Given the description of an element on the screen output the (x, y) to click on. 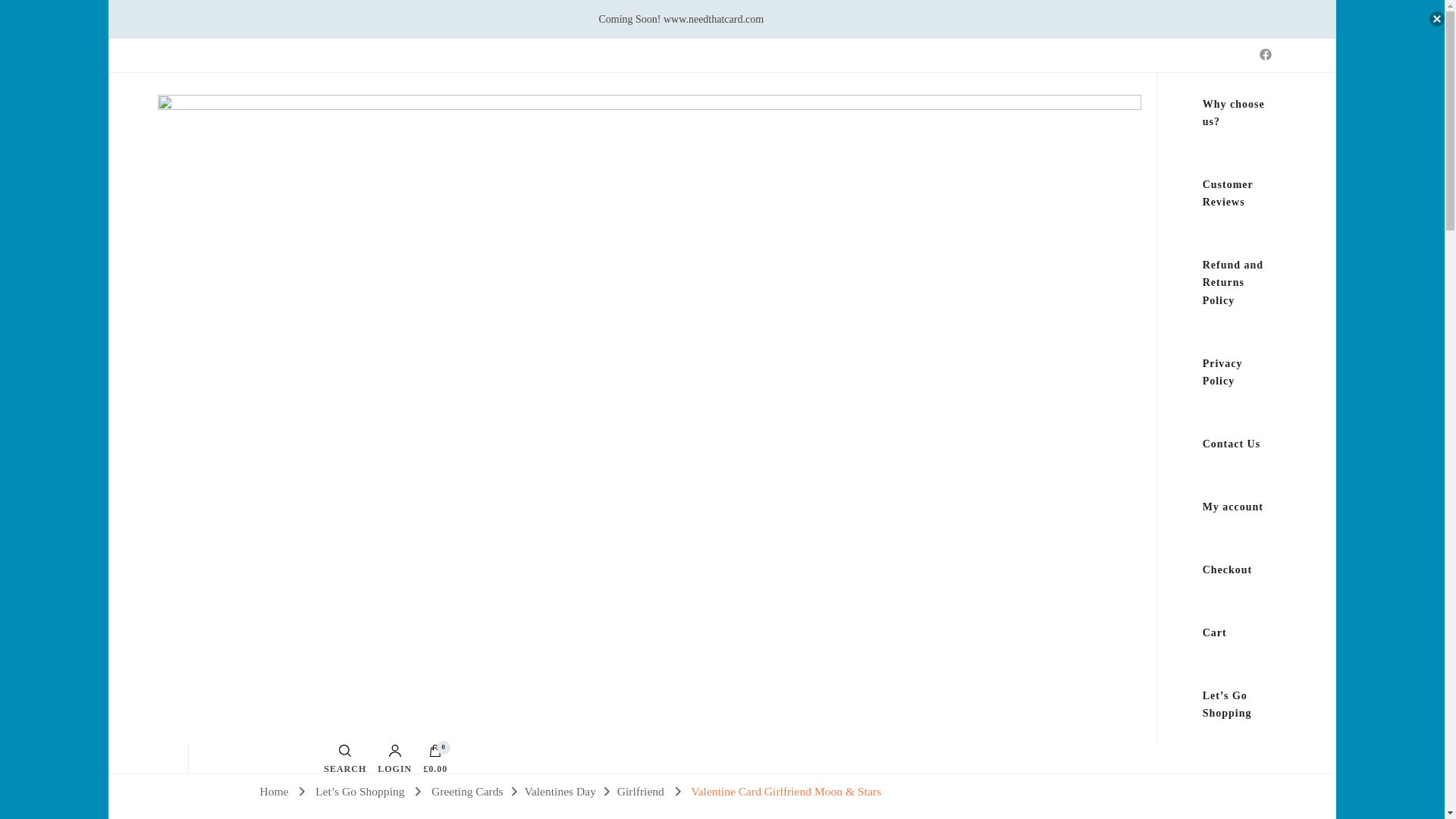
Contact Us (1232, 443)
SEARCH (344, 758)
Girlfriend (641, 790)
Greeting Cards (466, 790)
Refund and Returns Policy (1237, 282)
Customer Reviews (1237, 193)
Privacy Policy (1237, 372)
Checkout (1228, 569)
Why choose us? (1237, 112)
Home (273, 790)
Valentines Day (559, 790)
LOGIN (394, 758)
My account (1233, 506)
